Given the description of an element on the screen output the (x, y) to click on. 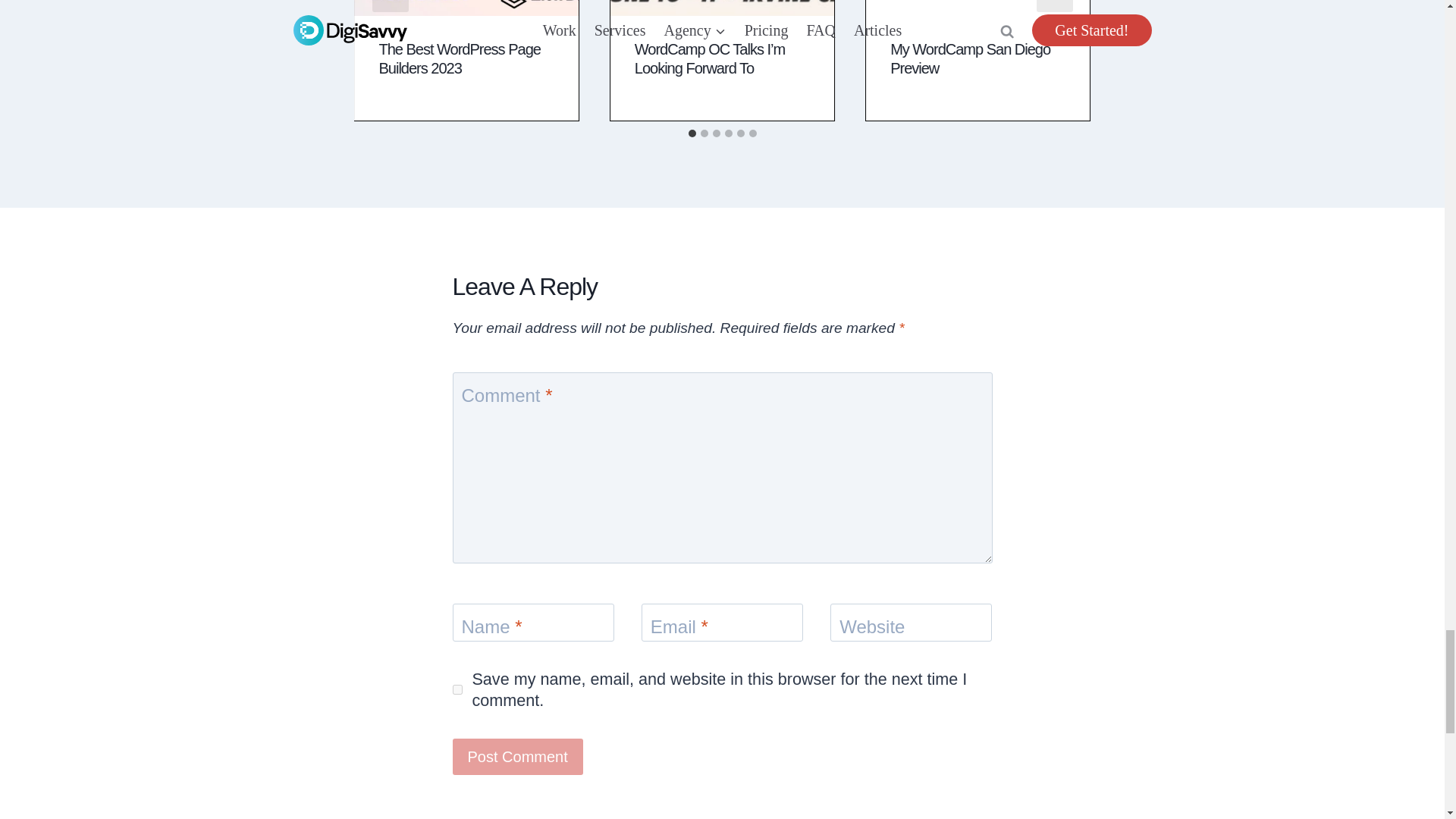
Post Comment (516, 756)
yes (456, 689)
